Given the description of an element on the screen output the (x, y) to click on. 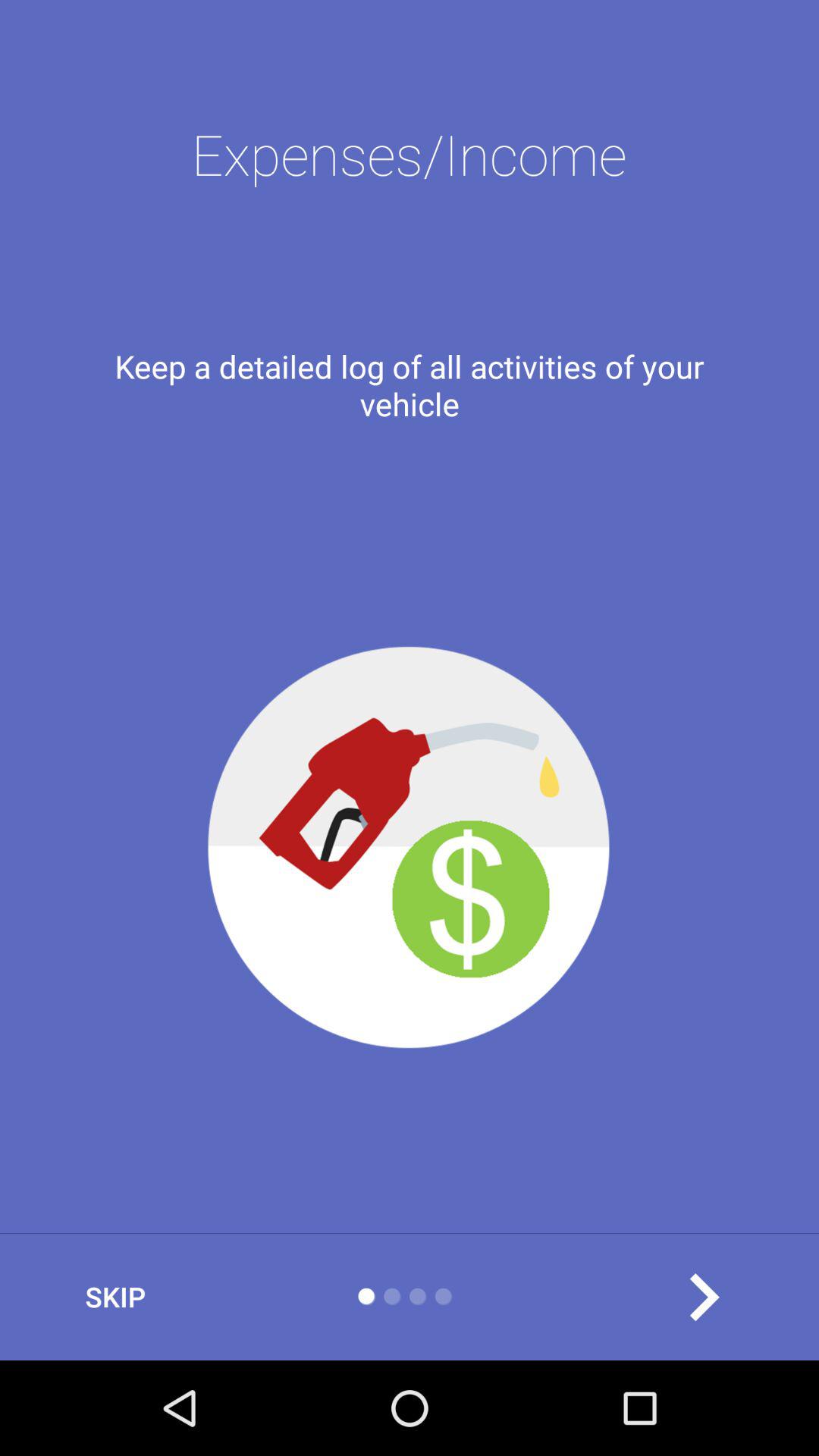
press item at the bottom right corner (703, 1296)
